Given the description of an element on the screen output the (x, y) to click on. 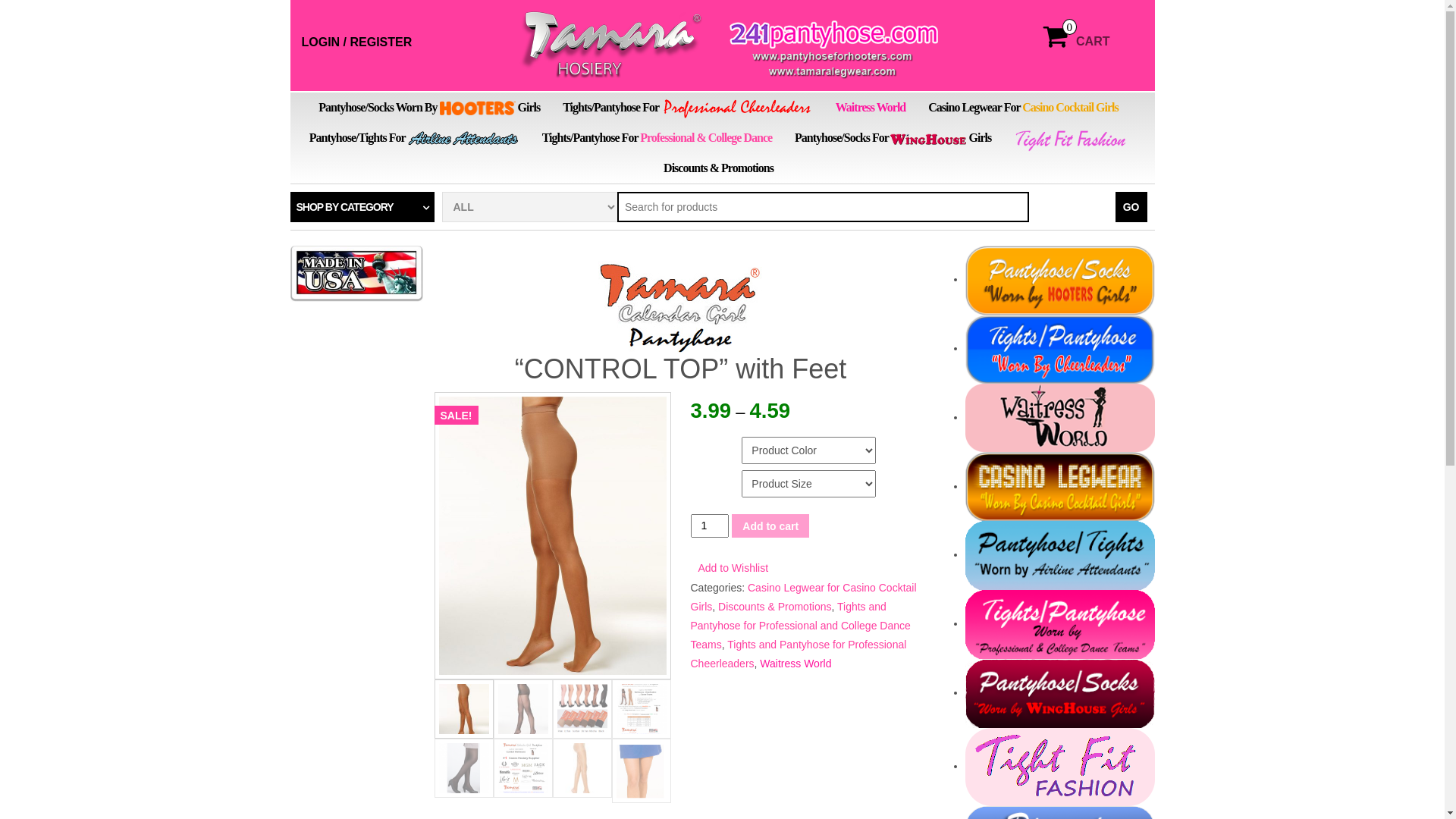
GO Element type: text (1131, 206)
241 Pantyhose 2 for 1 Pantyhose by Tamara Hosiery Element type: hover (729, 45)
Tights/Pantyhose For Professional & College Dance Element type: text (656, 137)
Discounts & Promotions Element type: text (718, 168)
Discounts & Promotions Element type: text (774, 606)
Casino Legwear For Casino Cocktail Girls Element type: text (1023, 107)
LOGIN / REGISTER Element type: text (356, 41)
Control top image suntan Element type: hover (551, 535)
Waitress World Element type: text (795, 663)
Add to Wishlist Element type: text (732, 567)
Pantyhose/Socks Worn By Girls Element type: text (428, 107)
Tights and Pantyhose for Professional Cheerleaders Element type: text (798, 653)
Waitress World Element type: text (870, 107)
Add to cart Element type: text (770, 525)
Casino Legwear for Casino Cocktail Girls Element type: text (803, 596)
Pantyhose/Socks For Girls Element type: text (892, 137)
SHOP BY CATEGORY Element type: text (361, 206)
Tights/Pantyhose For Element type: text (687, 107)
Pantyhose/Tights For Element type: text (414, 137)
0
CART Element type: text (1092, 41)
